Given the description of an element on the screen output the (x, y) to click on. 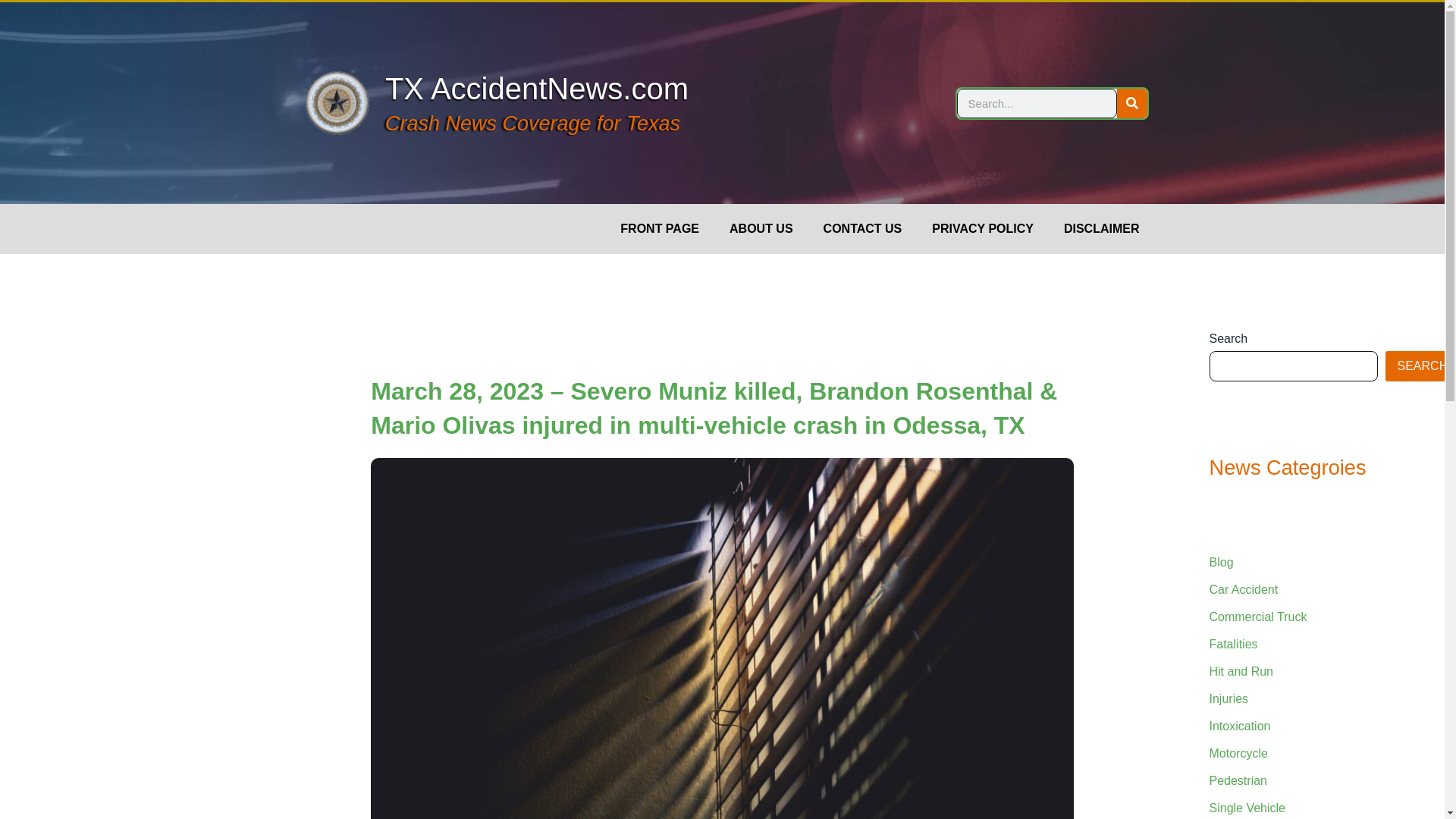
FRONT PAGE (659, 228)
TX AccidentNews.com (536, 88)
